Given the description of an element on the screen output the (x, y) to click on. 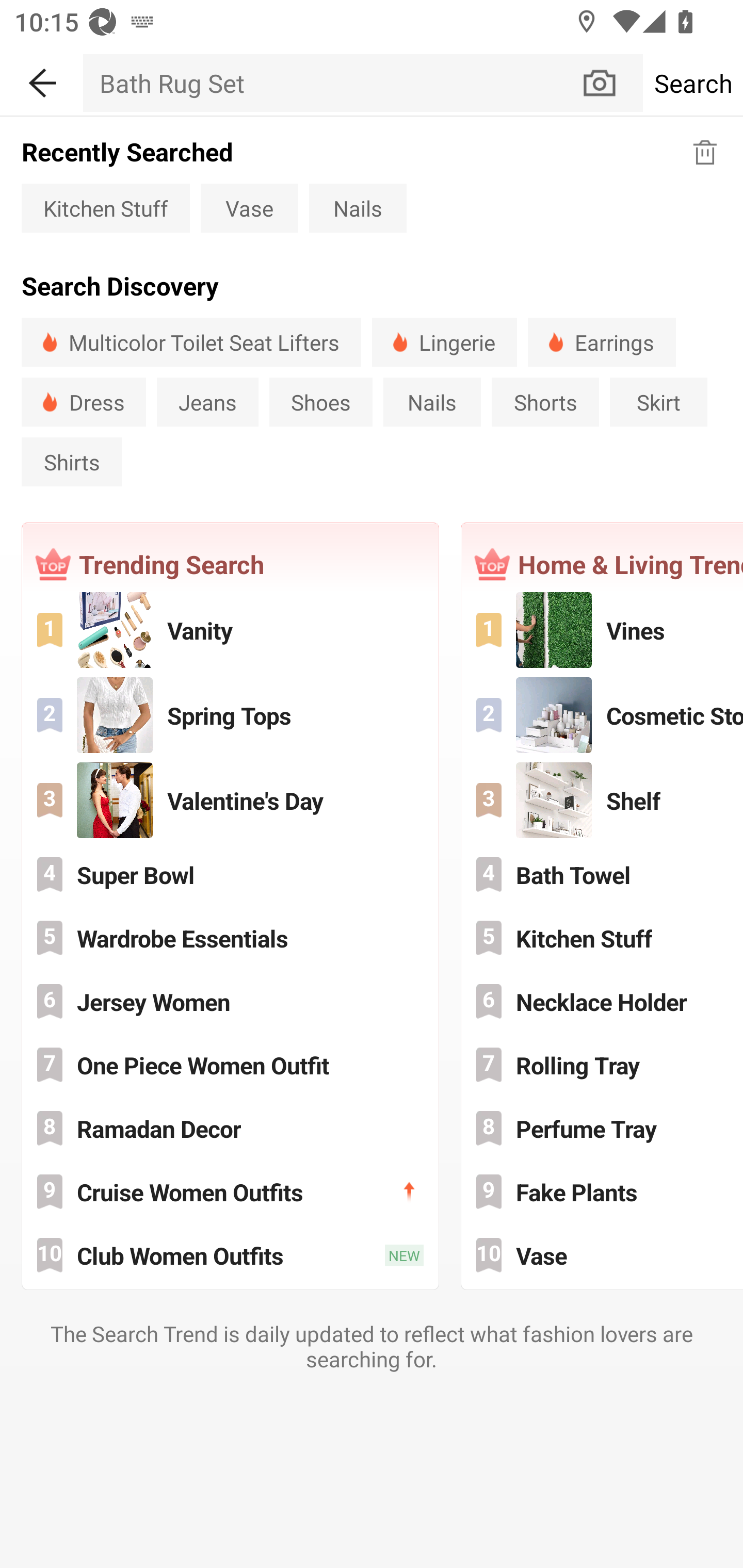
BACK (41, 79)
Bath Rug Set (331, 82)
Search (692, 82)
Kitchen Stuff (105, 207)
Vase (248, 207)
Nails (357, 207)
Multicolor Toilet Seat Lifters (191, 342)
Lingerie (444, 342)
Earrings (601, 342)
Dress (83, 401)
Jeans (207, 401)
Shoes (320, 401)
Nails (431, 401)
Shorts (544, 401)
Skirt (658, 401)
Shirts (71, 461)
Vanity 1 Vanity (230, 629)
Vines 1 Vines (602, 629)
Spring Tops 2 Spring Tops (230, 714)
Cosmetic Storage 2 Cosmetic Storage (602, 714)
Valentine's Day 3 Valentine's Day (230, 800)
Shelf 3 Shelf (602, 800)
Super Bowl 4 Super Bowl (230, 873)
Bath Towel 4 Bath Towel (602, 873)
Wardrobe Essentials 5 Wardrobe Essentials (230, 937)
Kitchen Stuff 5 Kitchen Stuff (602, 937)
Jersey Women 6 Jersey Women (230, 1000)
Necklace Holder 6 Necklace Holder (602, 1000)
One Piece Women Outfit 7 One Piece Women Outfit (230, 1064)
Rolling Tray 7 Rolling Tray (602, 1064)
Ramadan Decor 8 Ramadan Decor (230, 1127)
Perfume Tray 8 Perfume Tray (602, 1127)
Cruise Women Outfits 9 Cruise Women Outfits (230, 1191)
Fake Plants 9 Fake Plants (602, 1191)
Club Women Outfits 10 Club Women Outfits NEW (230, 1254)
Vase 10 Vase (602, 1254)
